Given the description of an element on the screen output the (x, y) to click on. 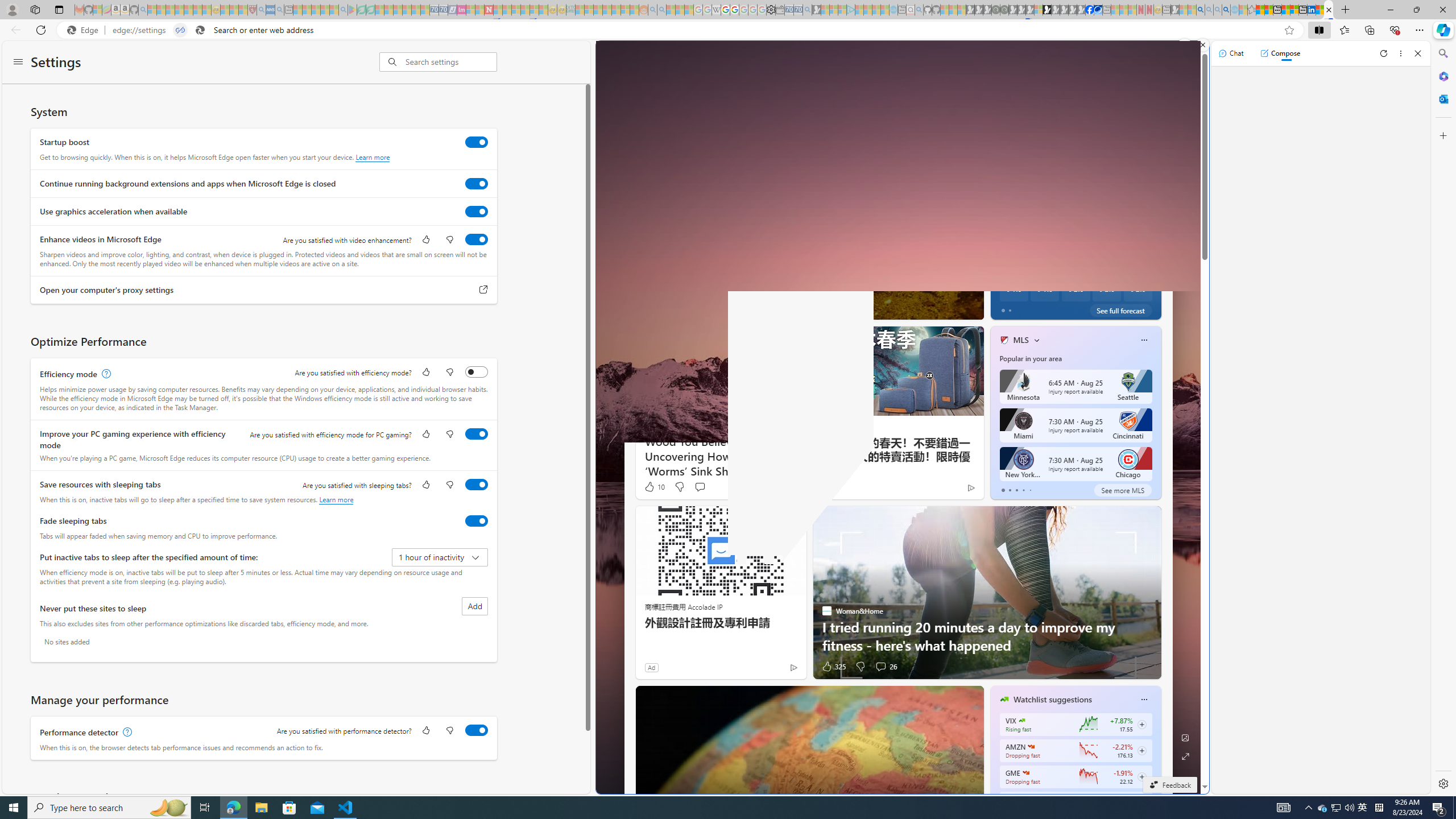
Which foods have the most plastics? You may be surprised (1159, 278)
Search icon (200, 29)
76 Like (1005, 307)
Startup boost (476, 142)
AutomationID: tab-36 (849, 308)
Body Network (999, 269)
